Given the description of an element on the screen output the (x, y) to click on. 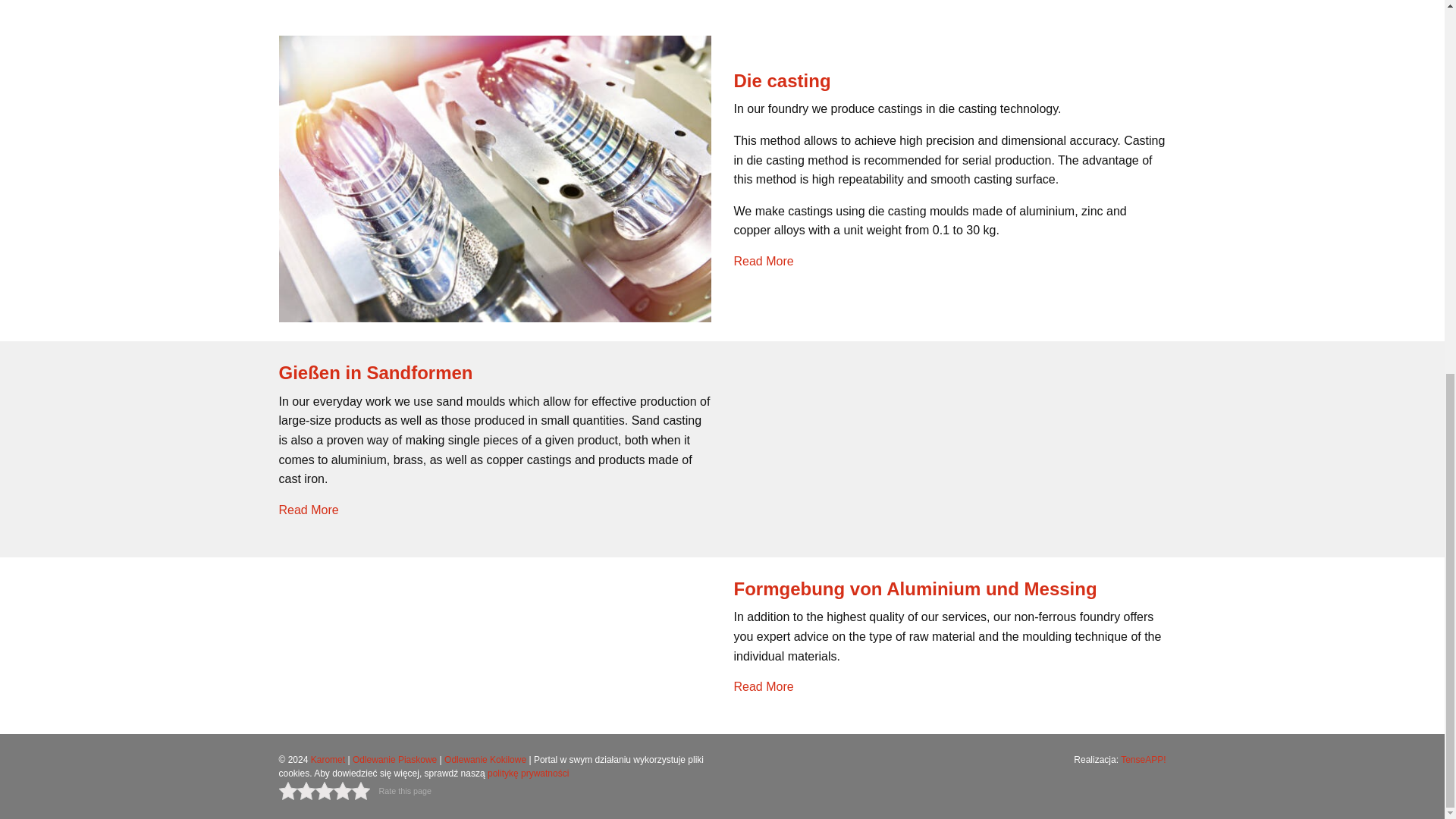
TenseAPP! (1143, 759)
Read More (763, 686)
Read More (763, 260)
Odlewanie Piaskowe (394, 759)
Read More (309, 509)
Karomet (328, 759)
Odlewanie Kokilowe (484, 759)
